Given the description of an element on the screen output the (x, y) to click on. 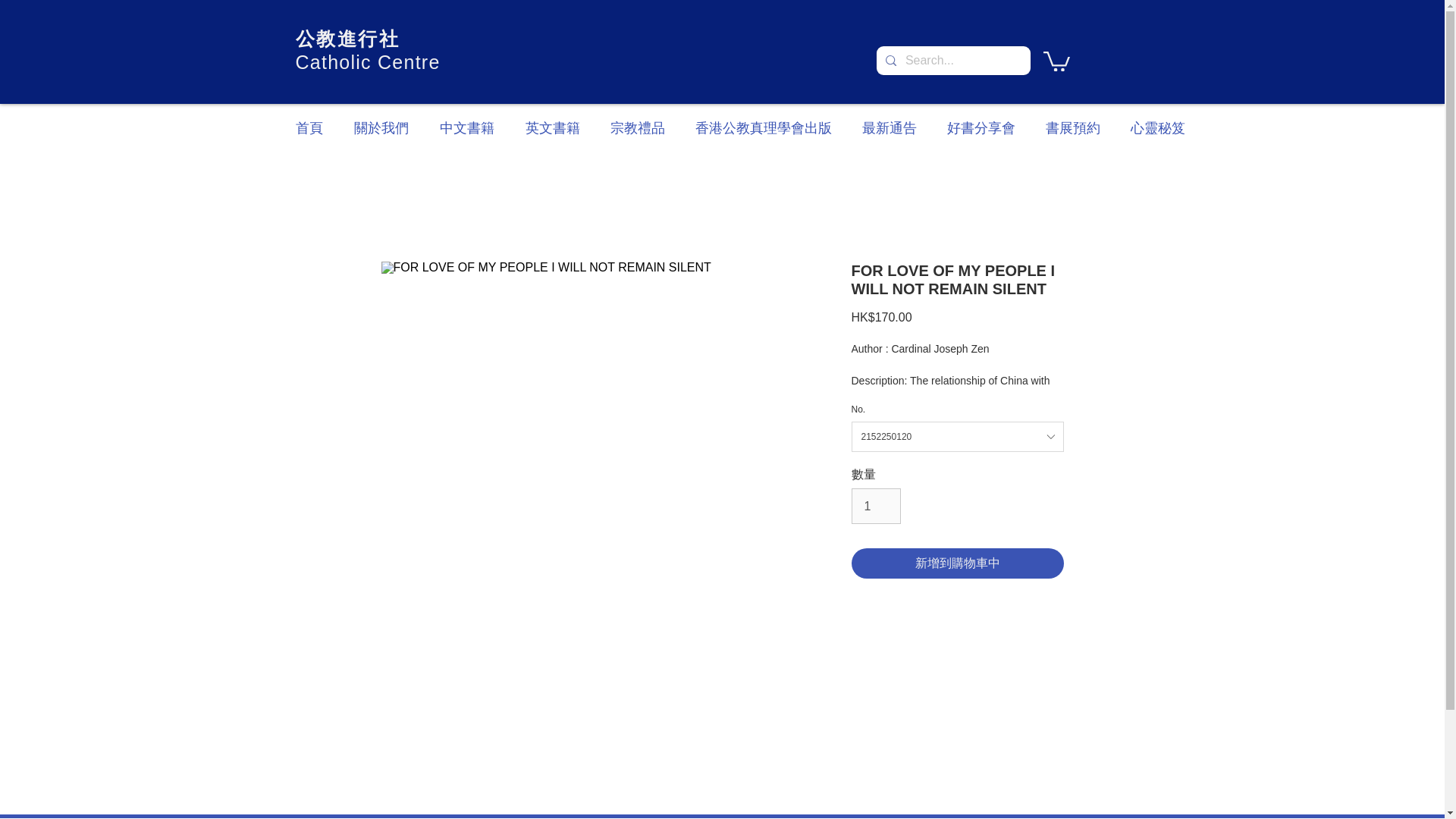
2152250120 (956, 436)
1 (874, 505)
